Given the description of an element on the screen output the (x, y) to click on. 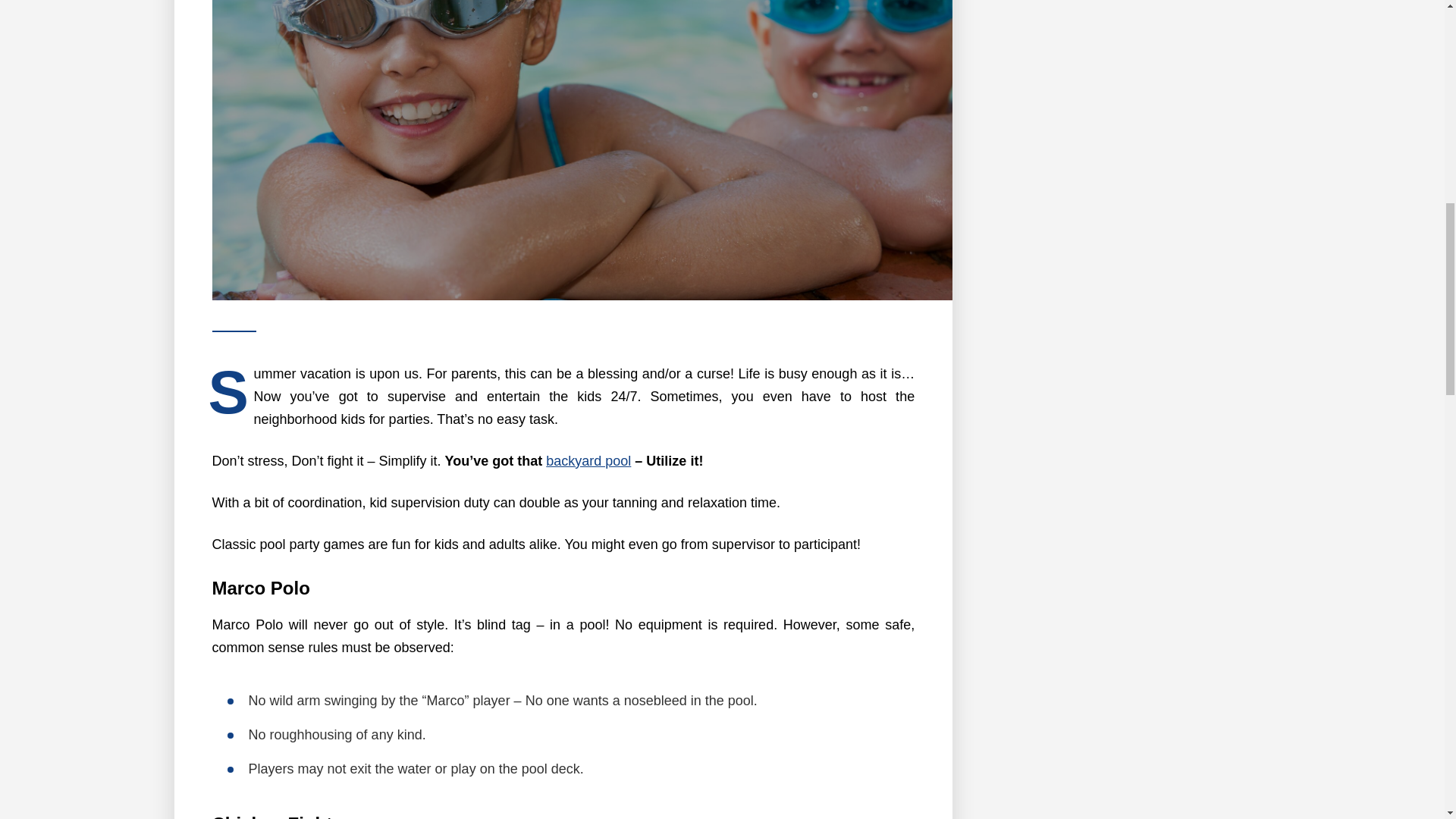
backyard pool (588, 460)
